Given the description of an element on the screen output the (x, y) to click on. 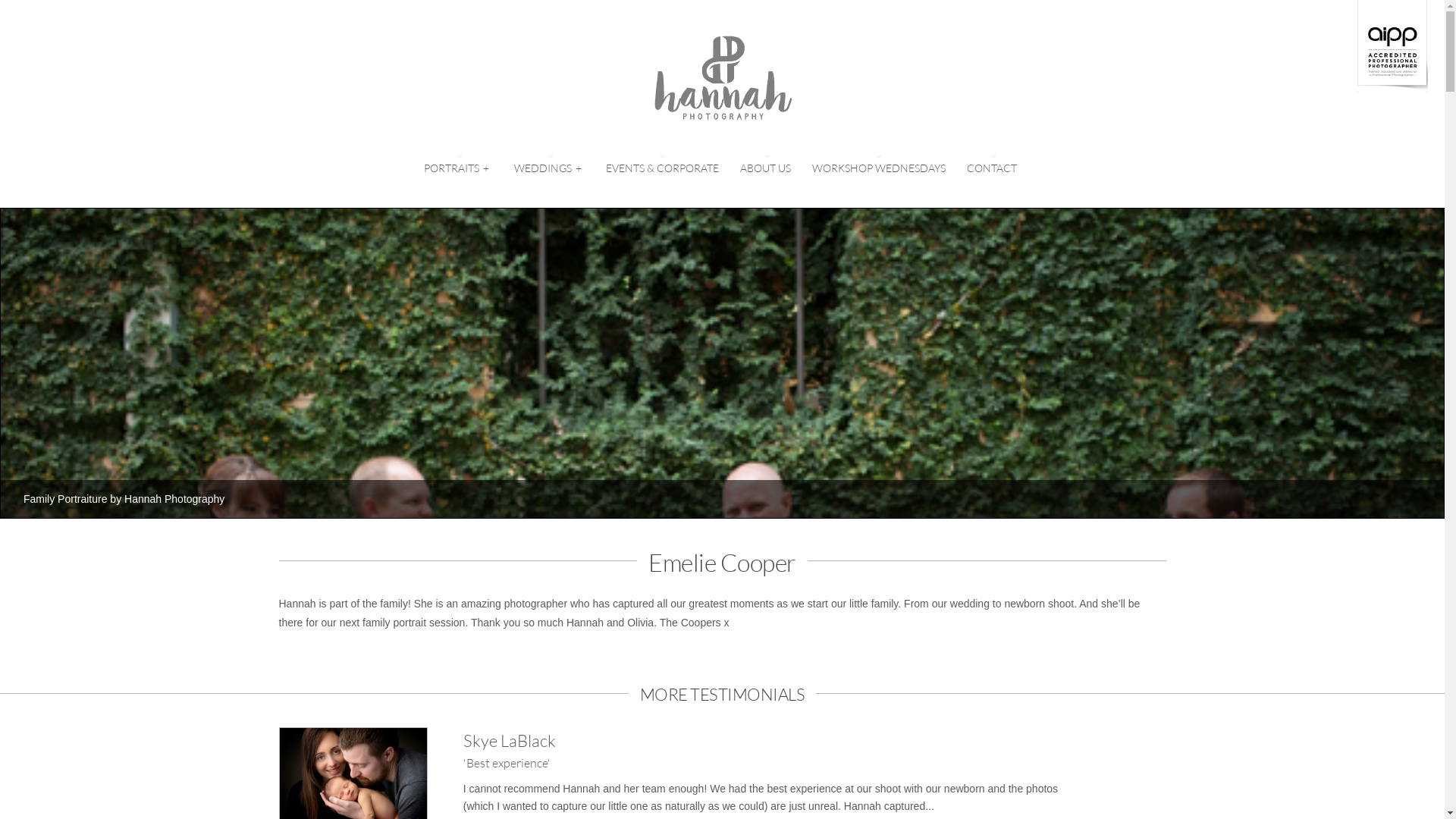
ABOUT US Element type: text (765, 167)
Skye LaBlack Element type: text (509, 740)
WORKSHOP WEDNESDAYS Element type: text (878, 167)
PORTRAITS
+ Element type: text (457, 167)
EVENTS & CORPORATE Element type: text (661, 167)
WEDDINGS
+ Element type: text (549, 167)
CONTACT Element type: text (991, 167)
